Given the description of an element on the screen output the (x, y) to click on. 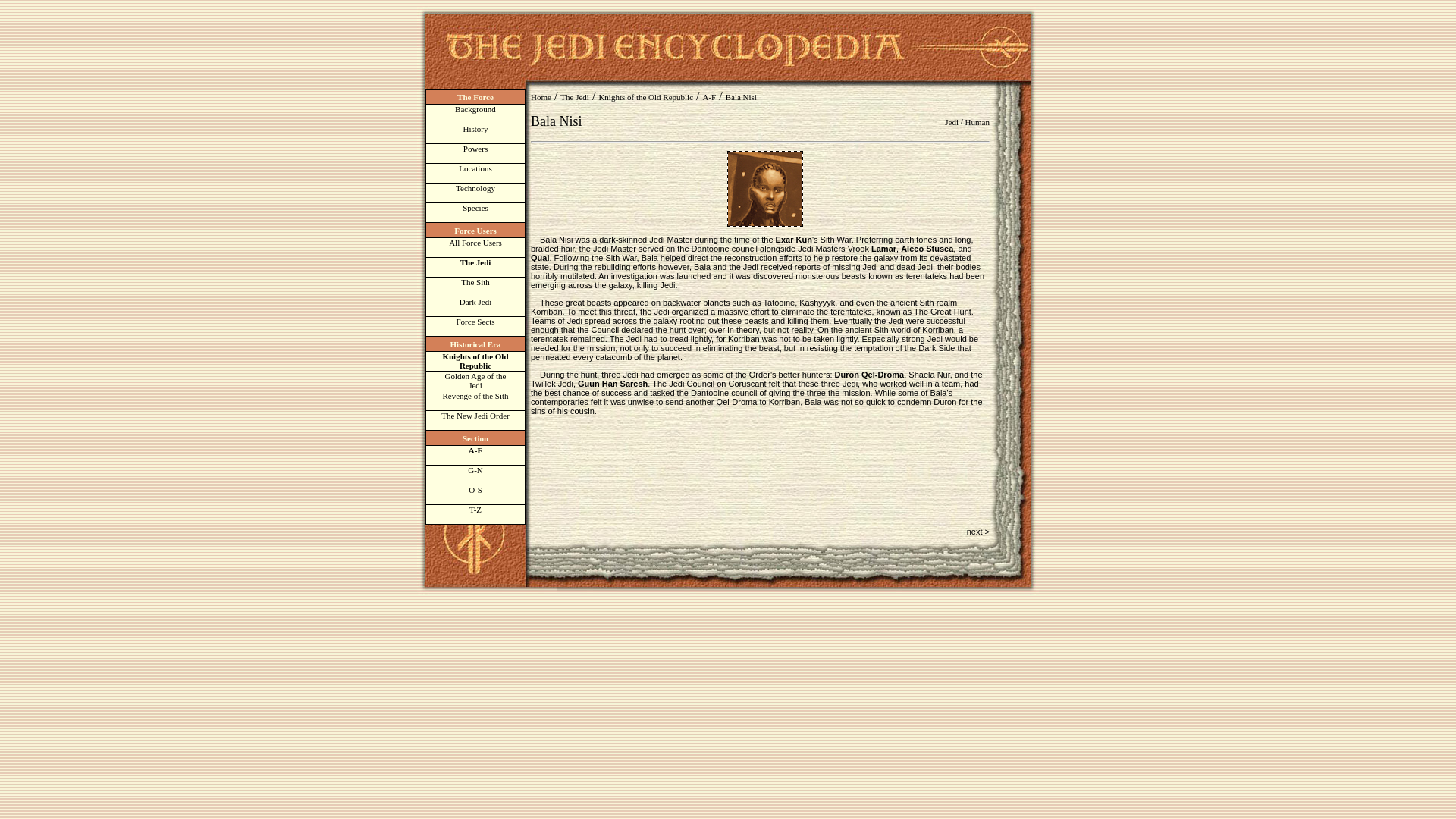
Force Sects (475, 325)
Duron Qel-Droma (869, 374)
Knights of the Old Republic (475, 361)
Jedi (951, 121)
Qual (539, 257)
Technology (475, 192)
O-S (475, 494)
The Jedi (475, 266)
A-F (708, 96)
Lamar (883, 248)
Background (475, 113)
A-F (475, 455)
Dark Jedi (475, 306)
Home (475, 380)
